Given the description of an element on the screen output the (x, y) to click on. 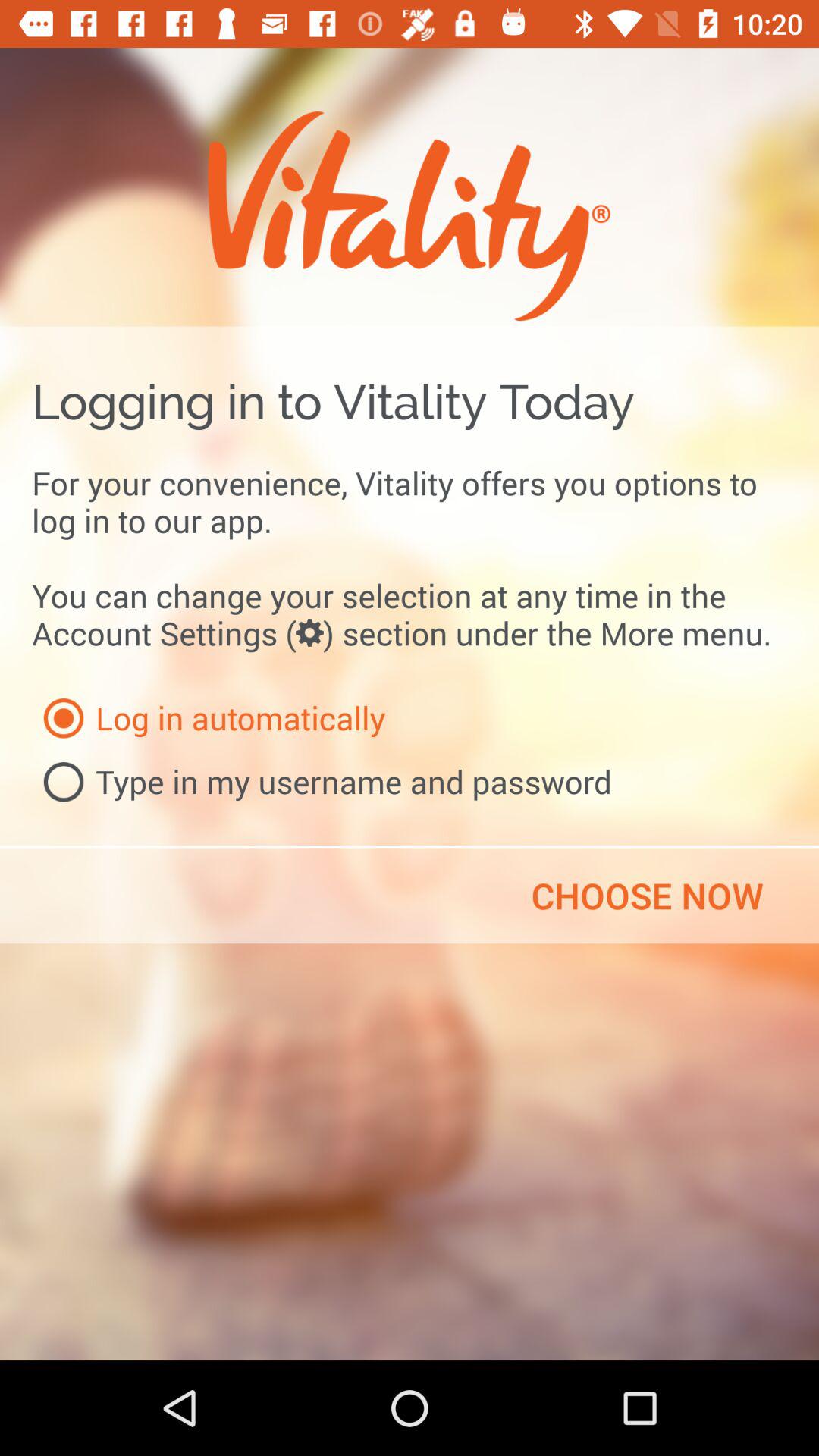
press choose now (647, 895)
